Given the description of an element on the screen output the (x, y) to click on. 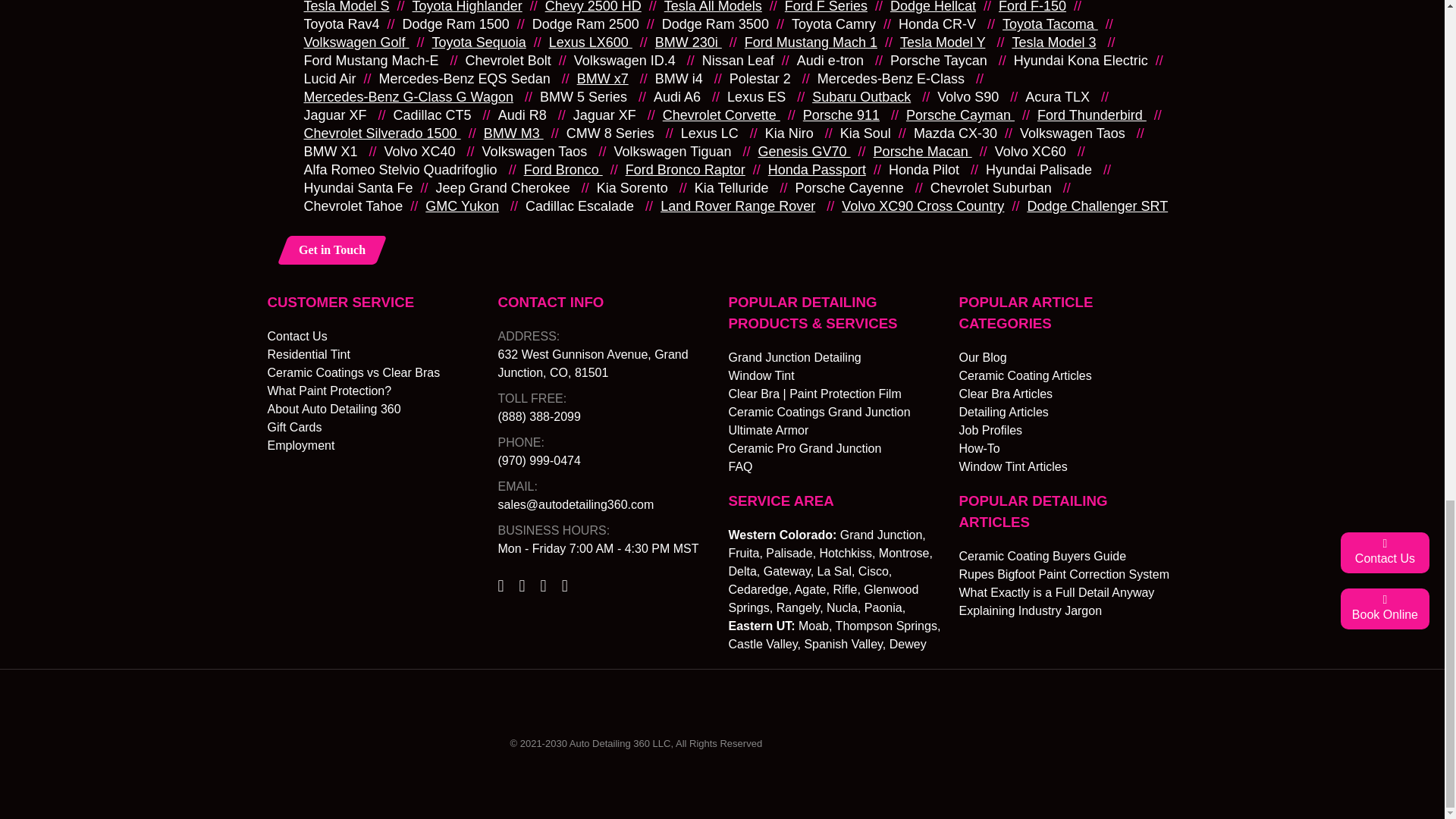
facebook (500, 585)
instagram (543, 585)
twitter (522, 585)
youtube (564, 585)
